Given the description of an element on the screen output the (x, y) to click on. 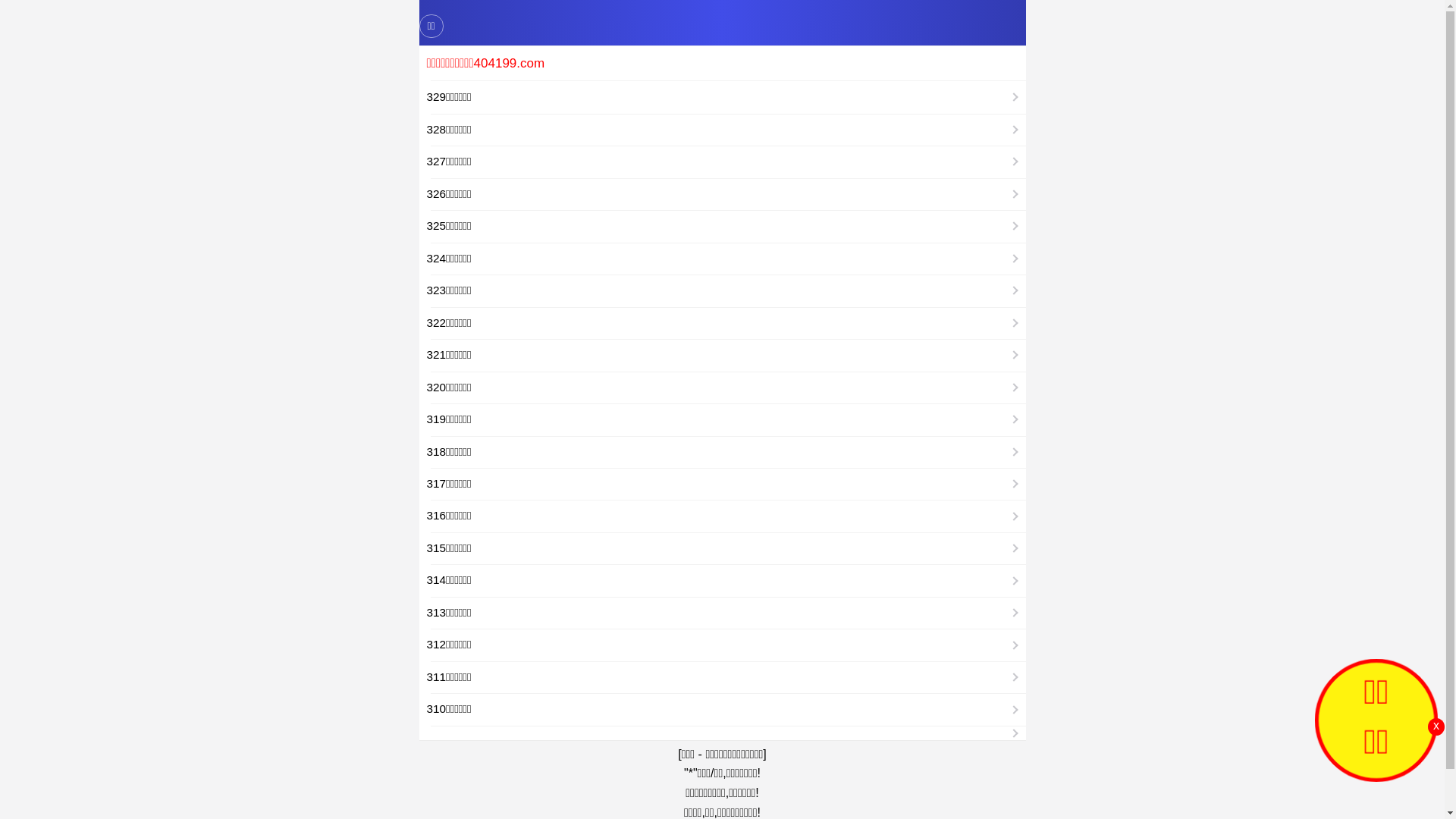
x Element type: text (1435, 726)
